Given the description of an element on the screen output the (x, y) to click on. 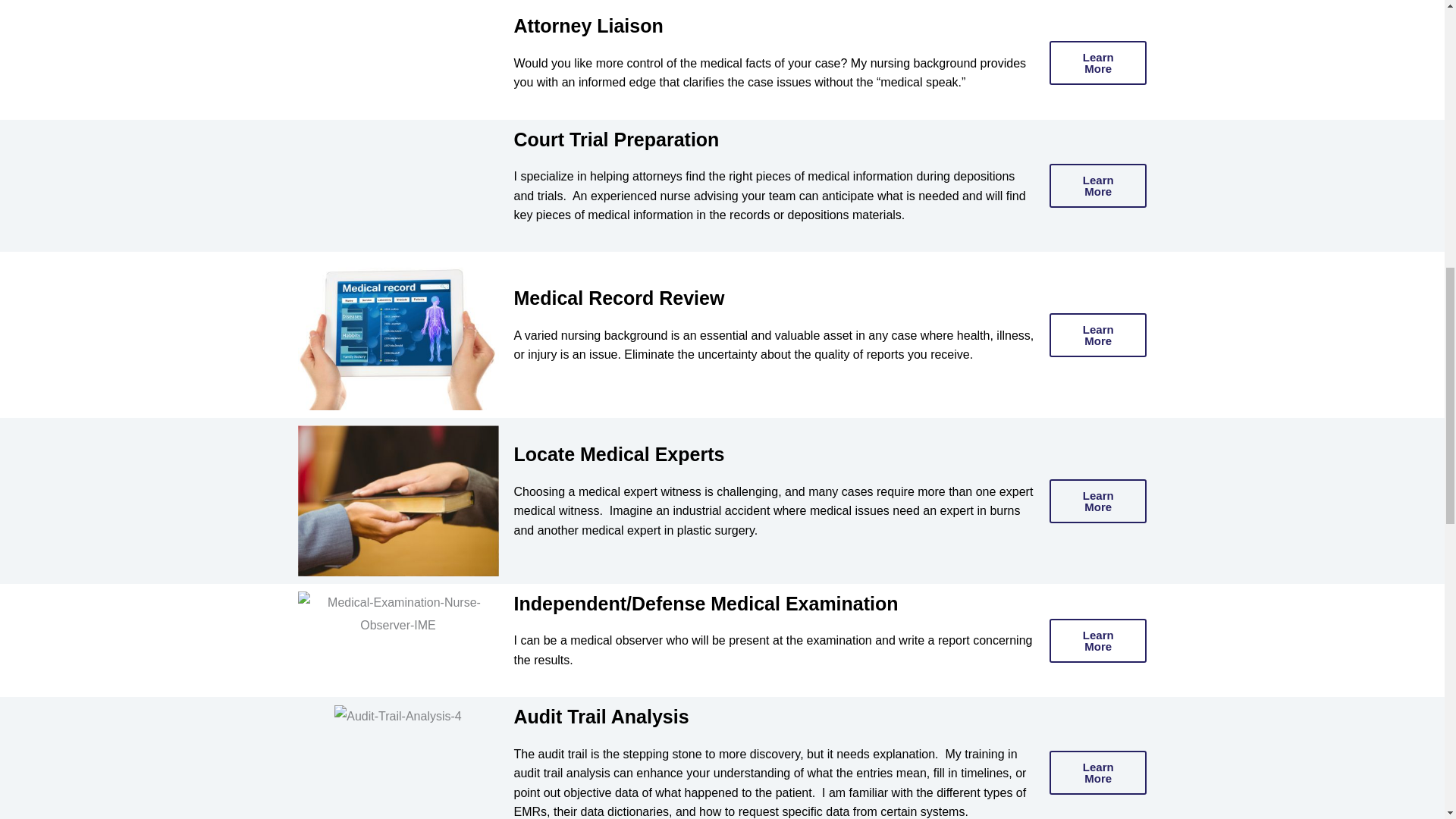
Audit-Trail-Analysis-4 (397, 716)
Medical-Examination-Nurse-Observer-IME (397, 613)
Learn More (1098, 501)
Learn More (1098, 334)
Learn More (1098, 185)
medical witness boston (397, 500)
Learn More (1098, 62)
Learn More (1098, 772)
Electronic-Medical-Record-Review (397, 334)
Learn More (1098, 640)
